Given the description of an element on the screen output the (x, y) to click on. 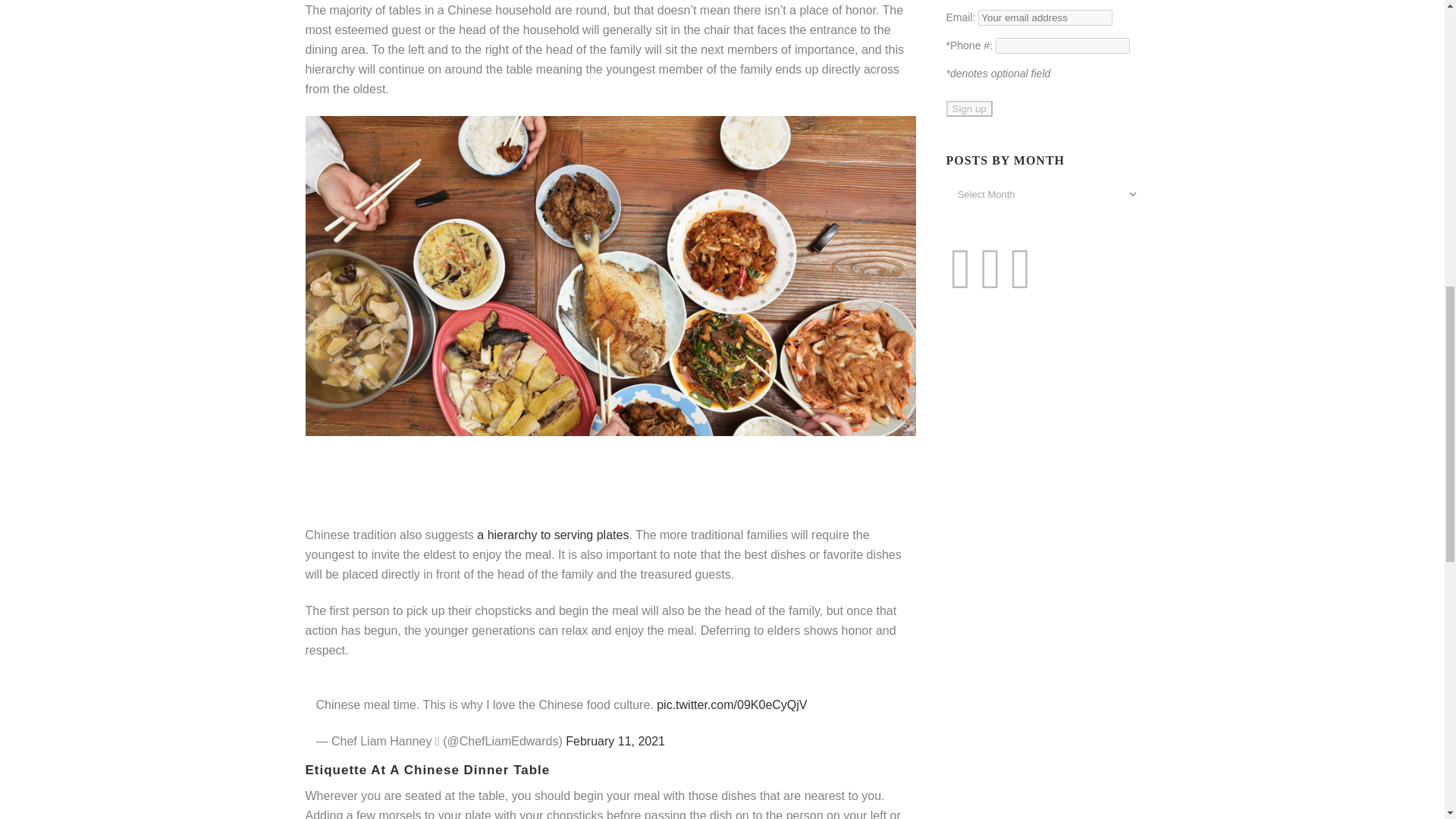
a hierarchy to serving plates (552, 534)
Sign up (969, 108)
February 11, 2021 (615, 740)
